Given the description of an element on the screen output the (x, y) to click on. 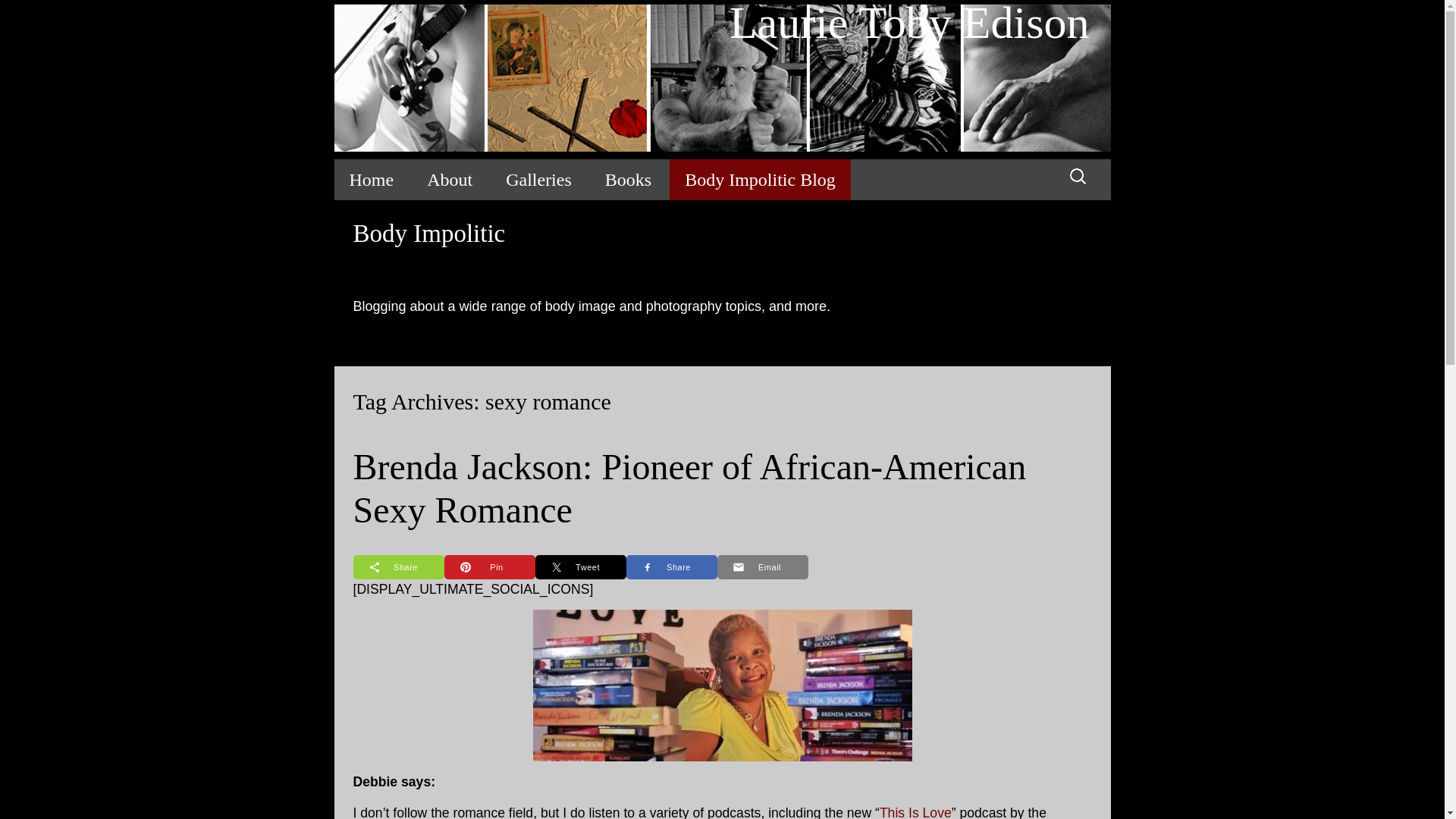
Brenda Jackson: Pioneer of African-American Sexy Romance (689, 488)
Books (627, 178)
Laurie Toby Edison (721, 79)
Home (371, 178)
Search (18, 15)
Galleries (538, 178)
Laurie Toby Edison (721, 79)
This Is Love (915, 812)
About (449, 178)
Body Impolitic Blog (759, 178)
